Given the description of an element on the screen output the (x, y) to click on. 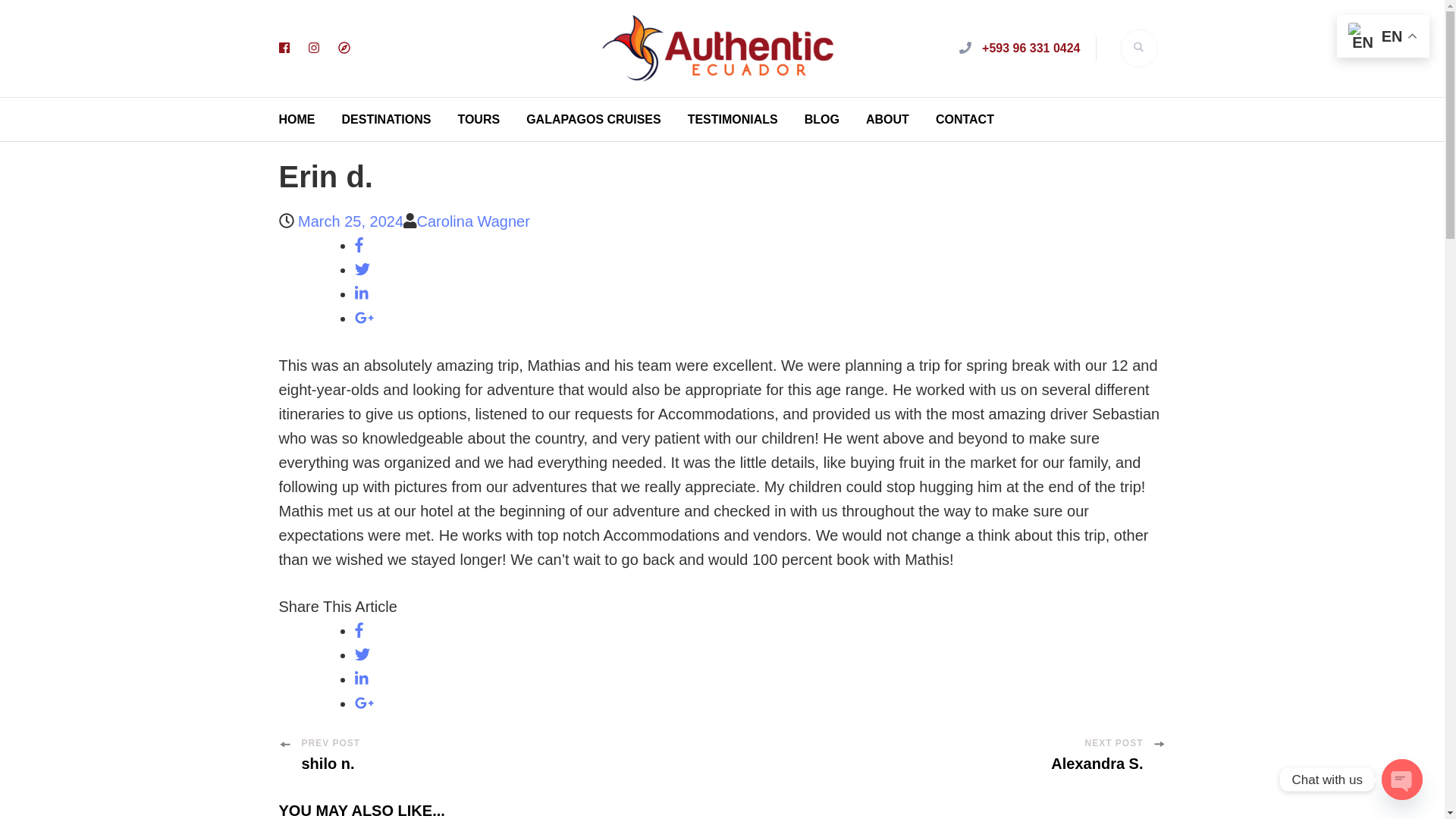
DESTINATIONS (385, 119)
March 25, 2024 (350, 221)
TESTIMONIALS (732, 119)
ABOUT (887, 119)
TOURS (478, 119)
GALAPAGOS CRUISES (593, 119)
CONTACT (965, 119)
Authentic Ecuador (919, 57)
Carolina Wagner (472, 221)
BLOG (822, 119)
